Given the description of an element on the screen output the (x, y) to click on. 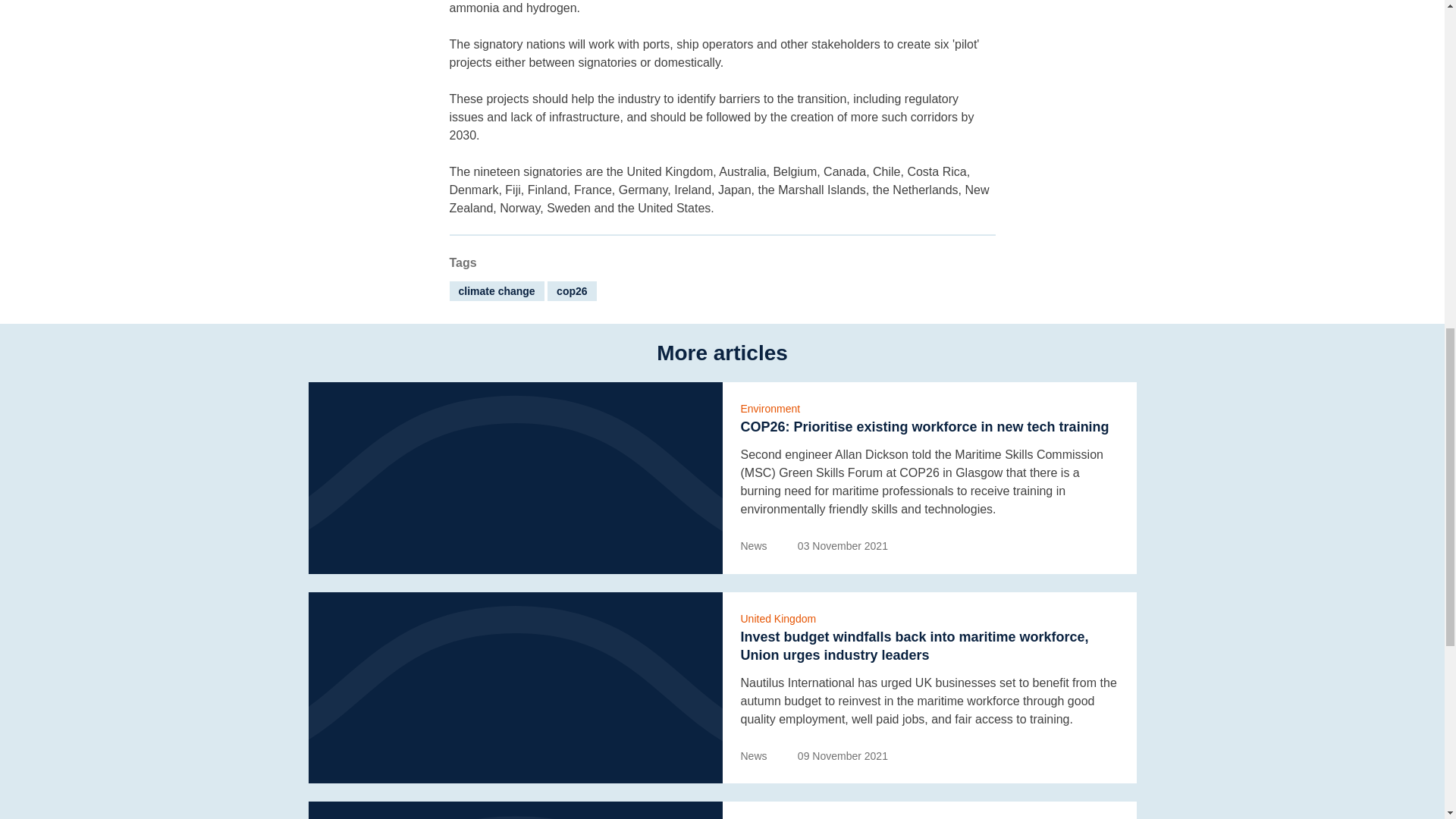
climate change (495, 291)
cop26 (571, 291)
